Given the description of an element on the screen output the (x, y) to click on. 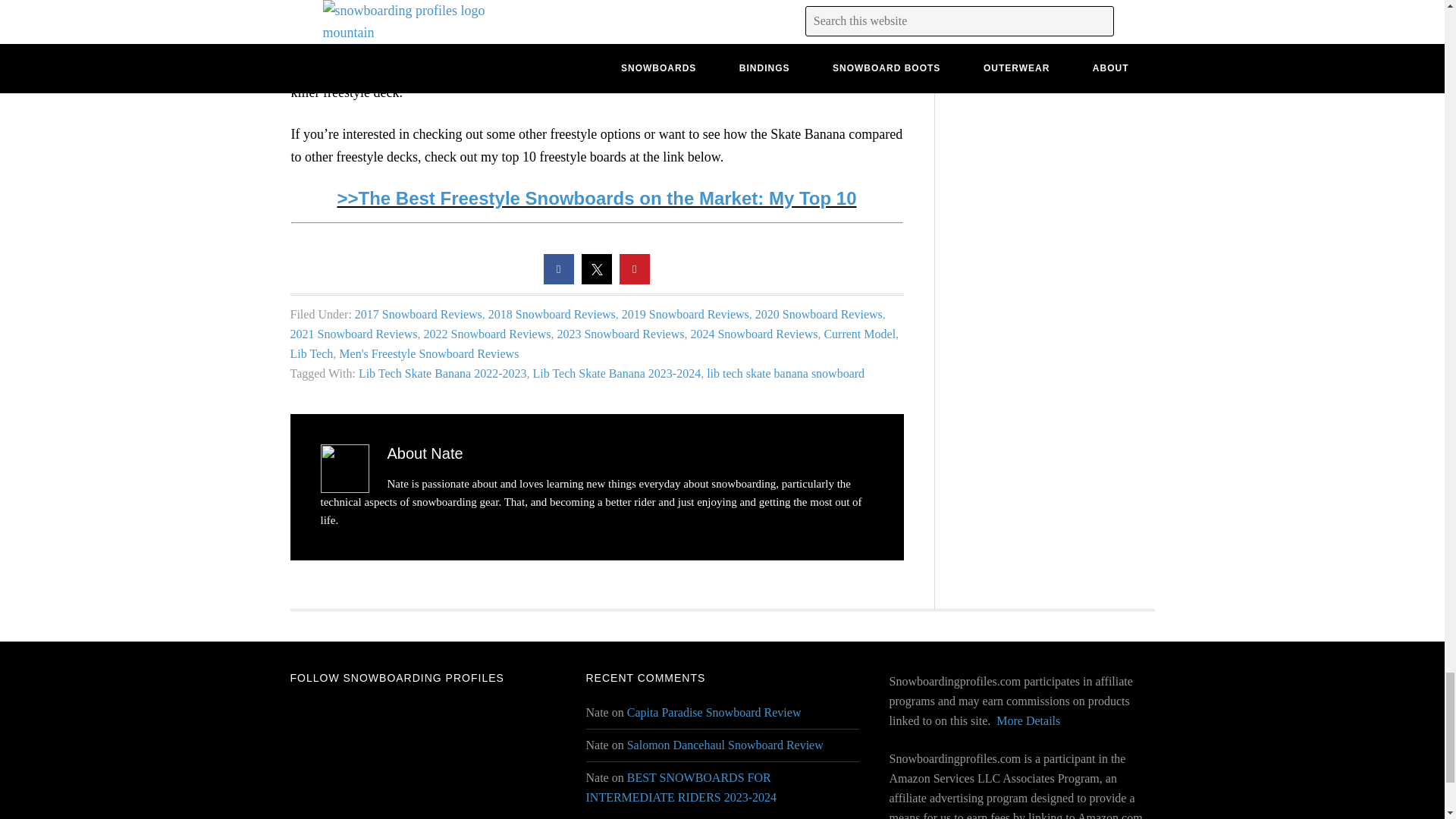
Share on Twitter (595, 279)
Share on Pinterest (634, 279)
Share on Facebook (558, 279)
